Given the description of an element on the screen output the (x, y) to click on. 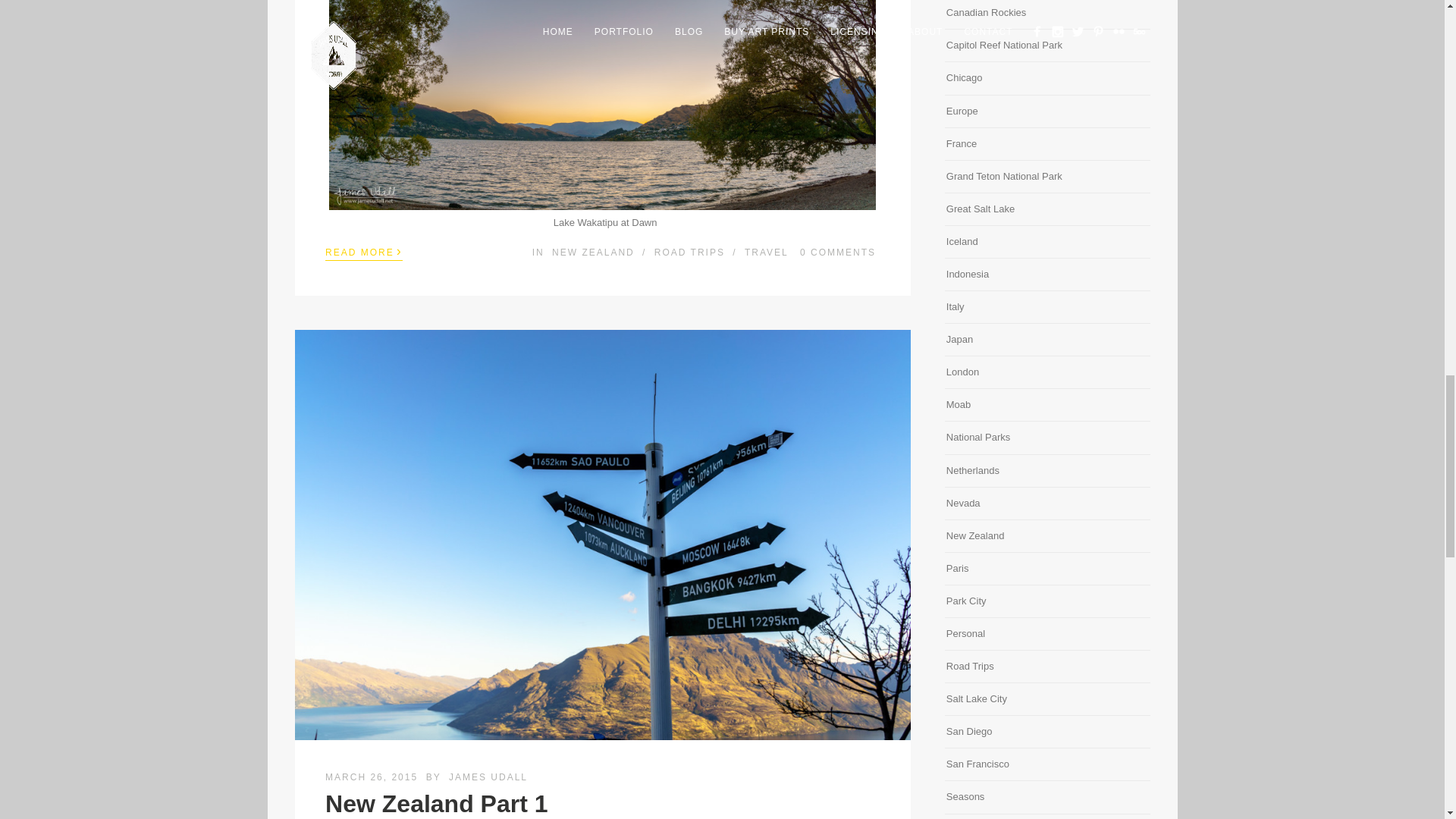
TRAVEL (766, 252)
NEW ZEALAND (592, 252)
ROAD TRIPS (689, 252)
0 COMMENTS (837, 252)
